Given the description of an element on the screen output the (x, y) to click on. 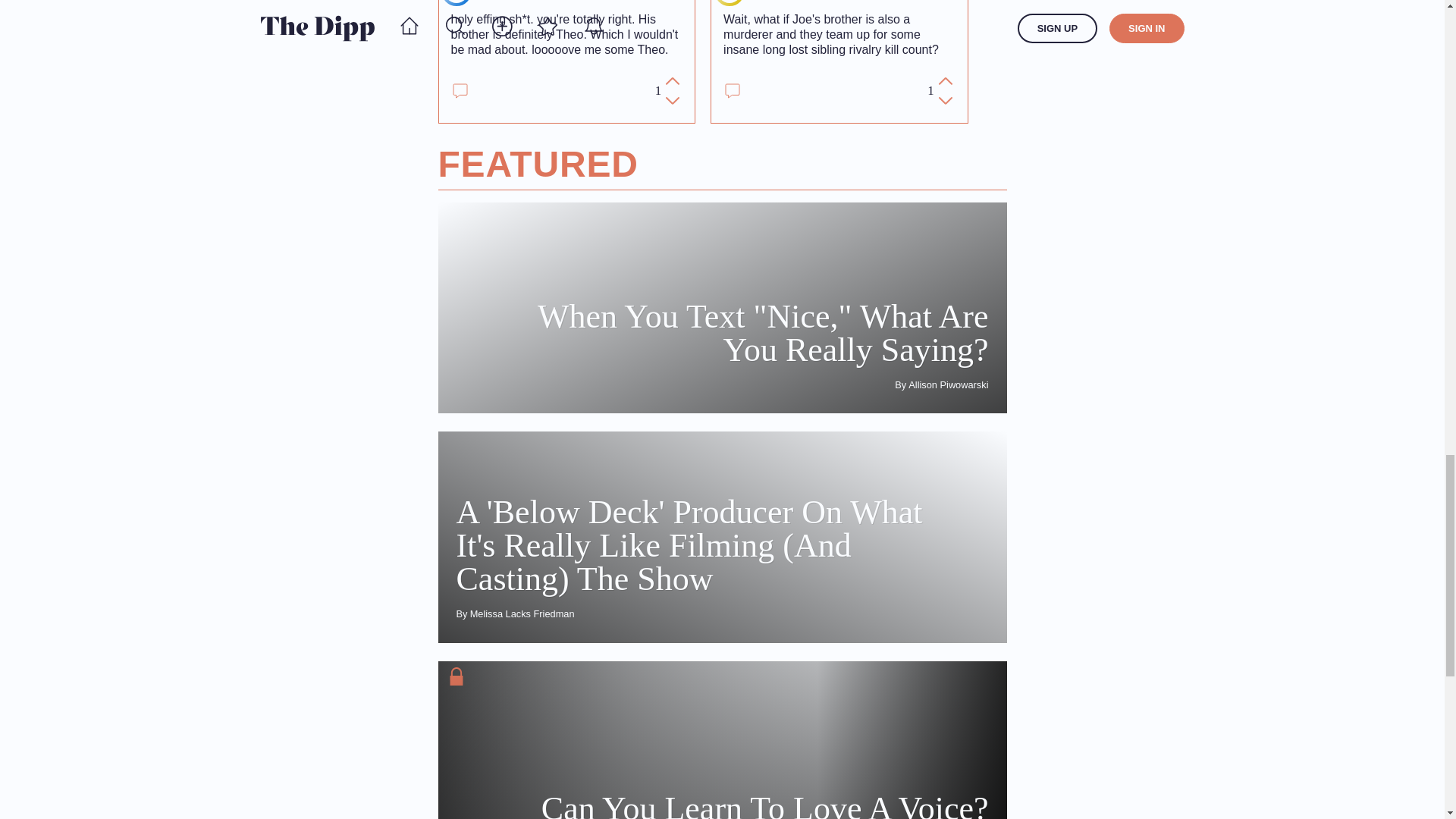
lifeisacabernet (788, 2)
rebeccafox44 (512, 2)
over 2 years ago (601, 2)
L (729, 2)
almost 3 years ago (888, 2)
R (456, 2)
